Given the description of an element on the screen output the (x, y) to click on. 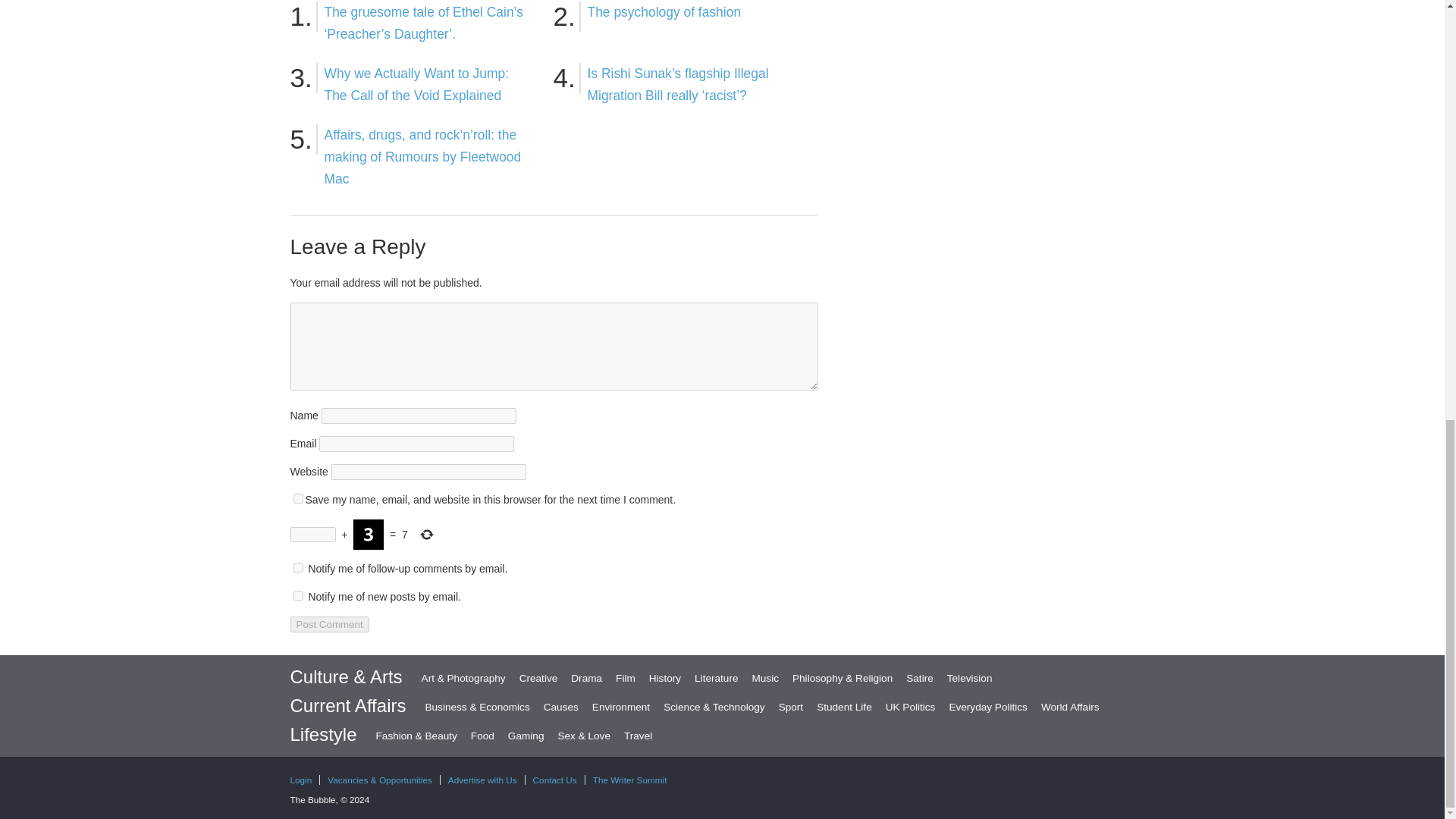
The psychology of fashion (663, 11)
yes (297, 498)
Why we Actually Want to Jump: The Call of the Void Explained (416, 84)
subscribe (297, 595)
Post Comment (328, 624)
The psychology of fashion (663, 11)
Post Comment (328, 624)
subscribe (297, 567)
Why we Actually Want to Jump: The Call of the Void Explained (416, 84)
